Given the description of an element on the screen output the (x, y) to click on. 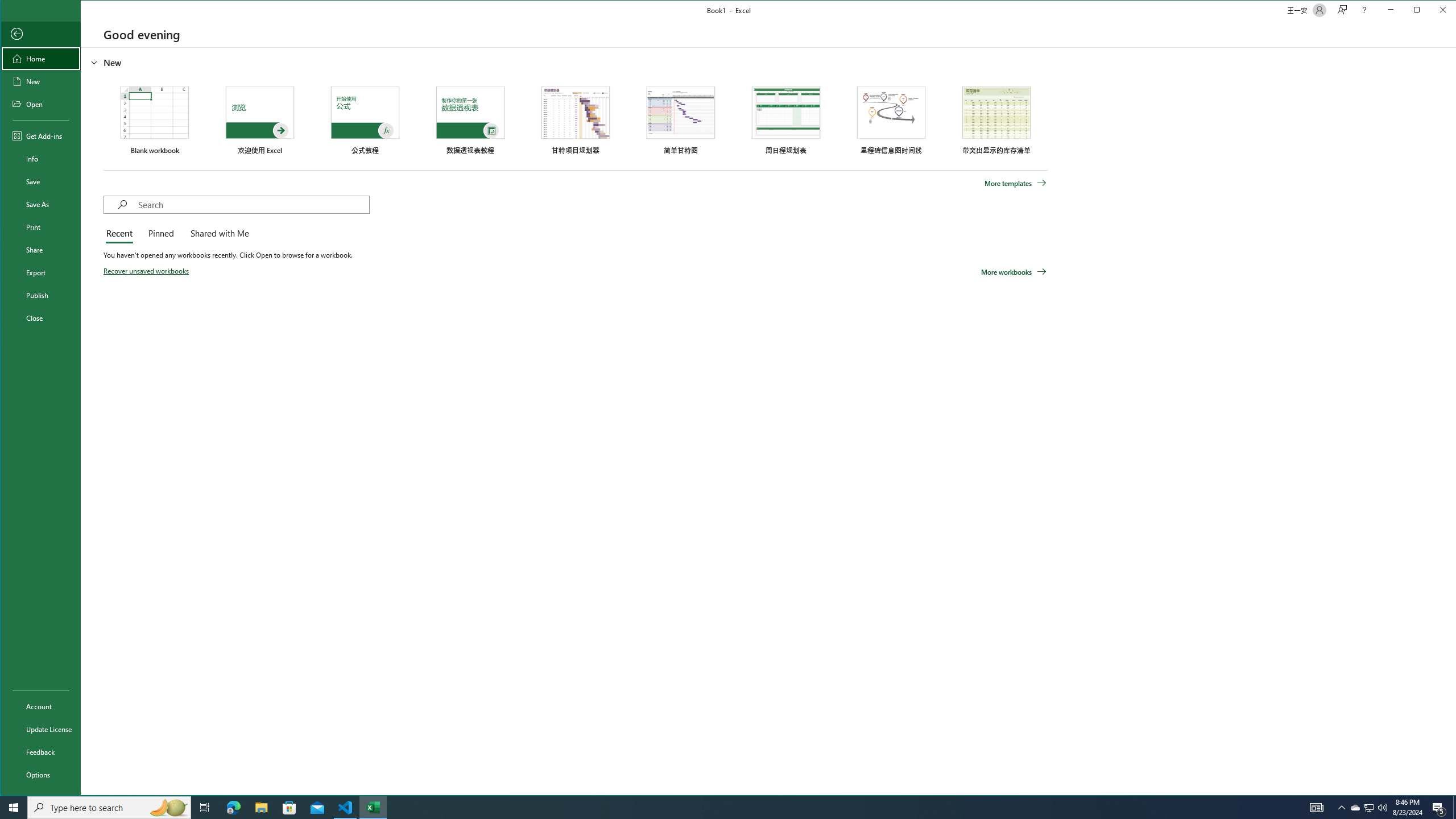
Save As (40, 203)
Recover unsaved workbooks (146, 271)
Show desktop (1454, 807)
More templates (1015, 183)
Feedback (40, 751)
Recent (121, 234)
Get Add-ins (40, 135)
Print (40, 226)
Export (40, 272)
